Given the description of an element on the screen output the (x, y) to click on. 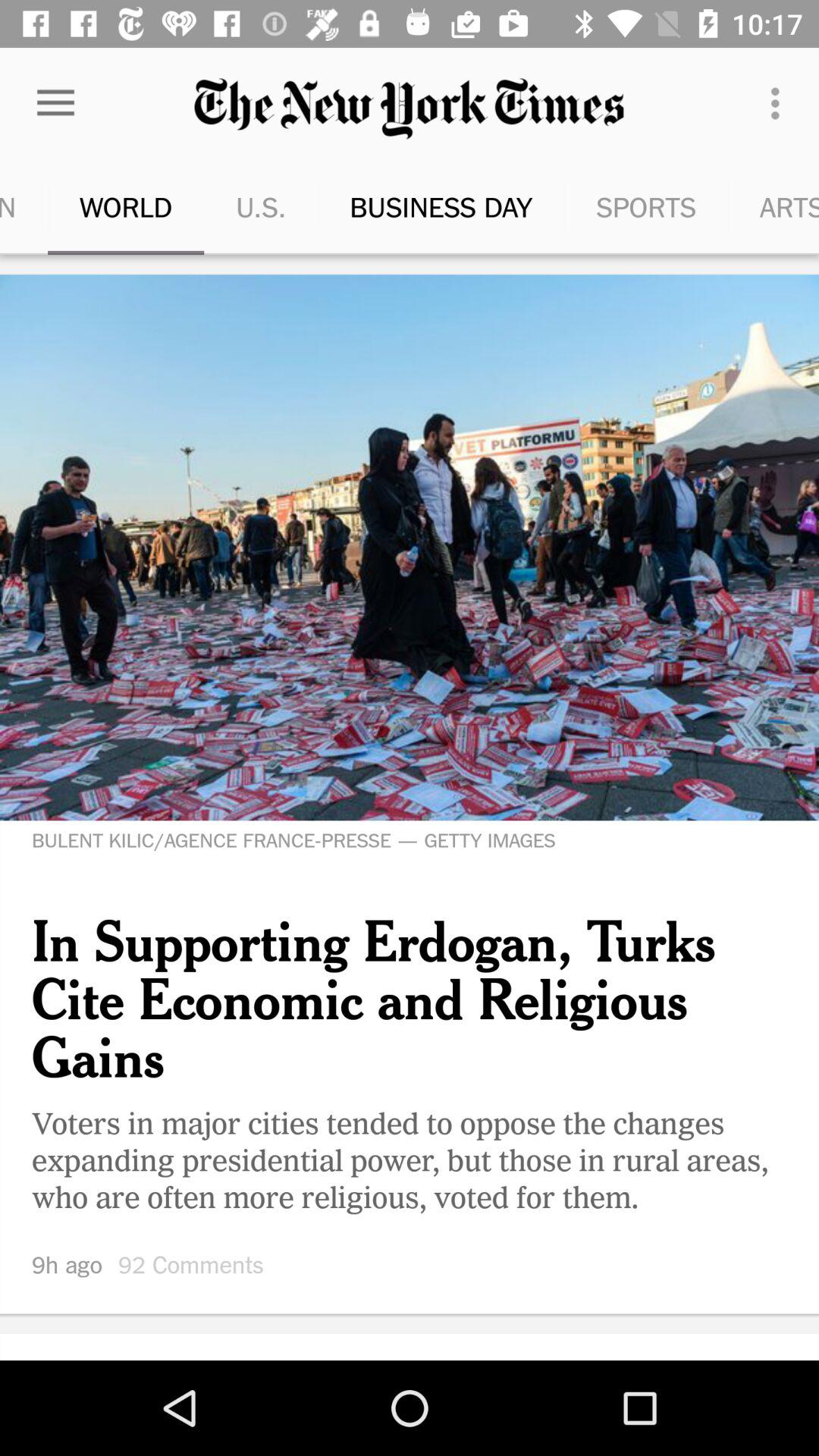
tap the icon to the right of the sports (753, 206)
